Given the description of an element on the screen output the (x, y) to click on. 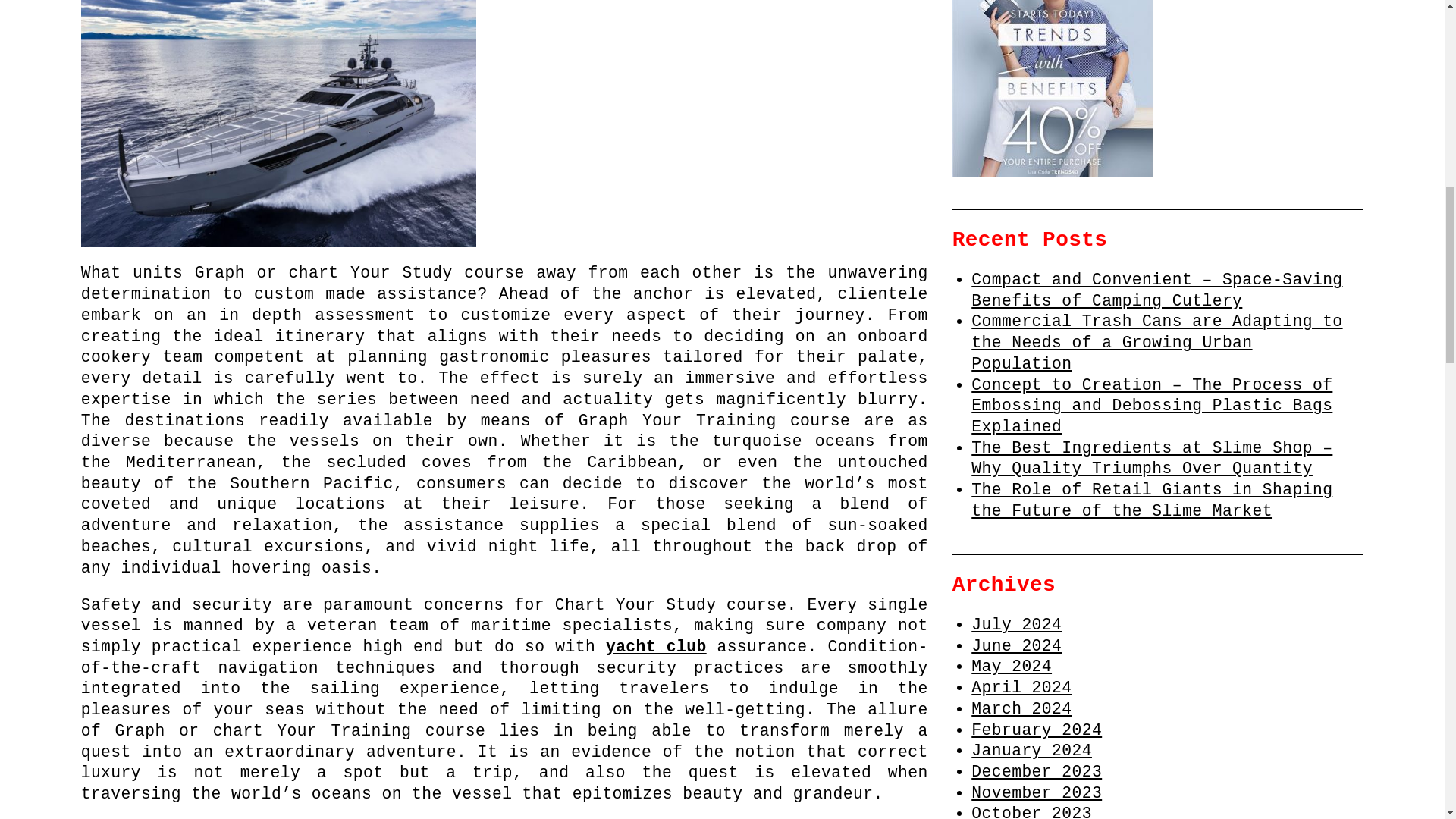
December 2023 (1036, 771)
March 2024 (1021, 709)
May 2024 (1011, 666)
November 2023 (1036, 792)
April 2024 (1021, 687)
October 2023 (1031, 811)
yacht club (655, 647)
July 2024 (1016, 624)
June 2024 (1016, 646)
February 2024 (1036, 730)
January 2024 (1031, 751)
